Given the description of an element on the screen output the (x, y) to click on. 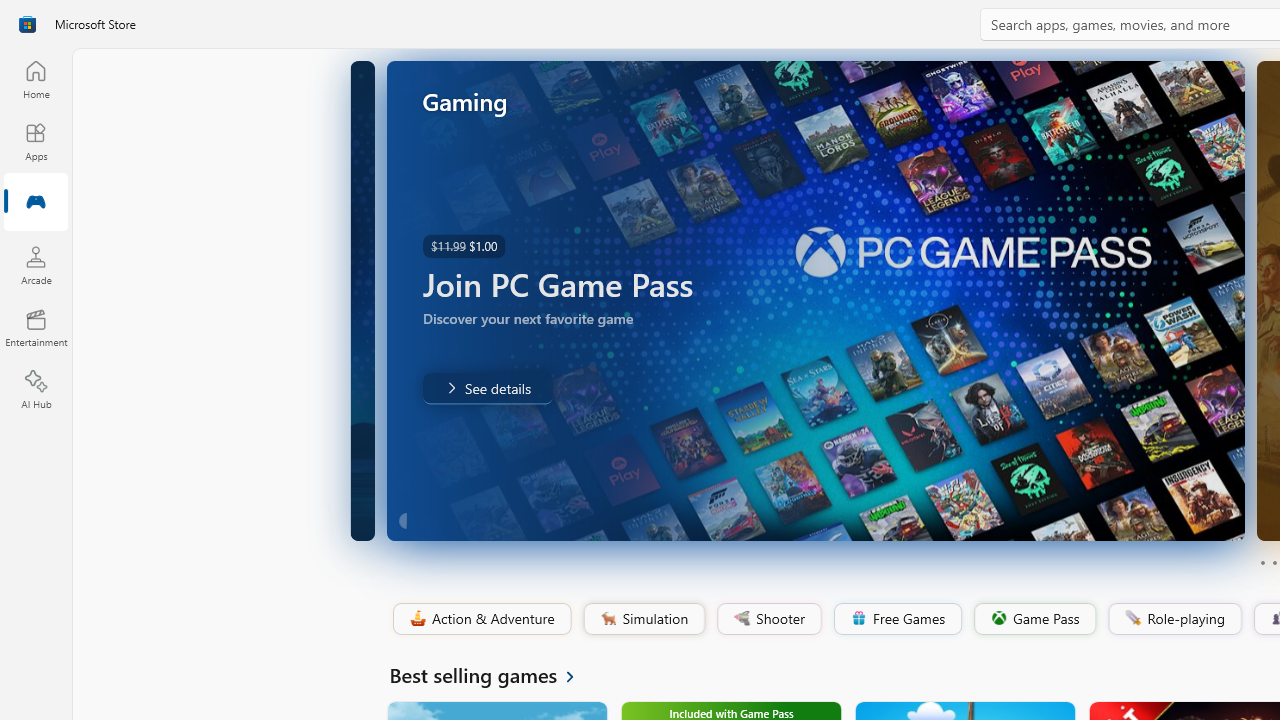
See all  Best selling games (493, 674)
Action & Adventure (480, 619)
